Given the description of an element on the screen output the (x, y) to click on. 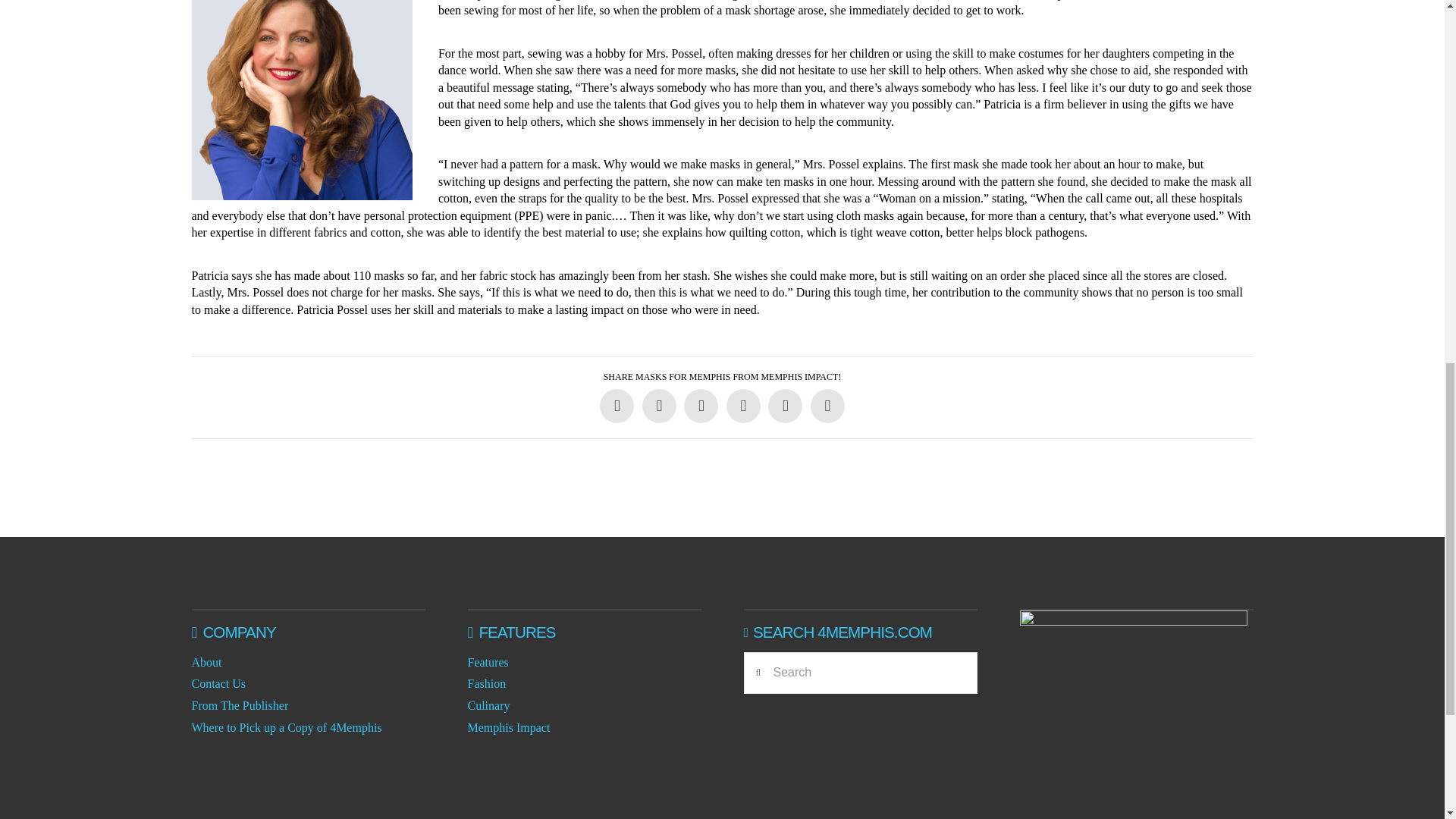
Share on Reddit (785, 406)
Share via Email (827, 406)
Share on LinkedIn (700, 406)
Share on Twitter (659, 406)
Share on Pinterest (743, 406)
Share on Facebook (616, 406)
